Given the description of an element on the screen output the (x, y) to click on. 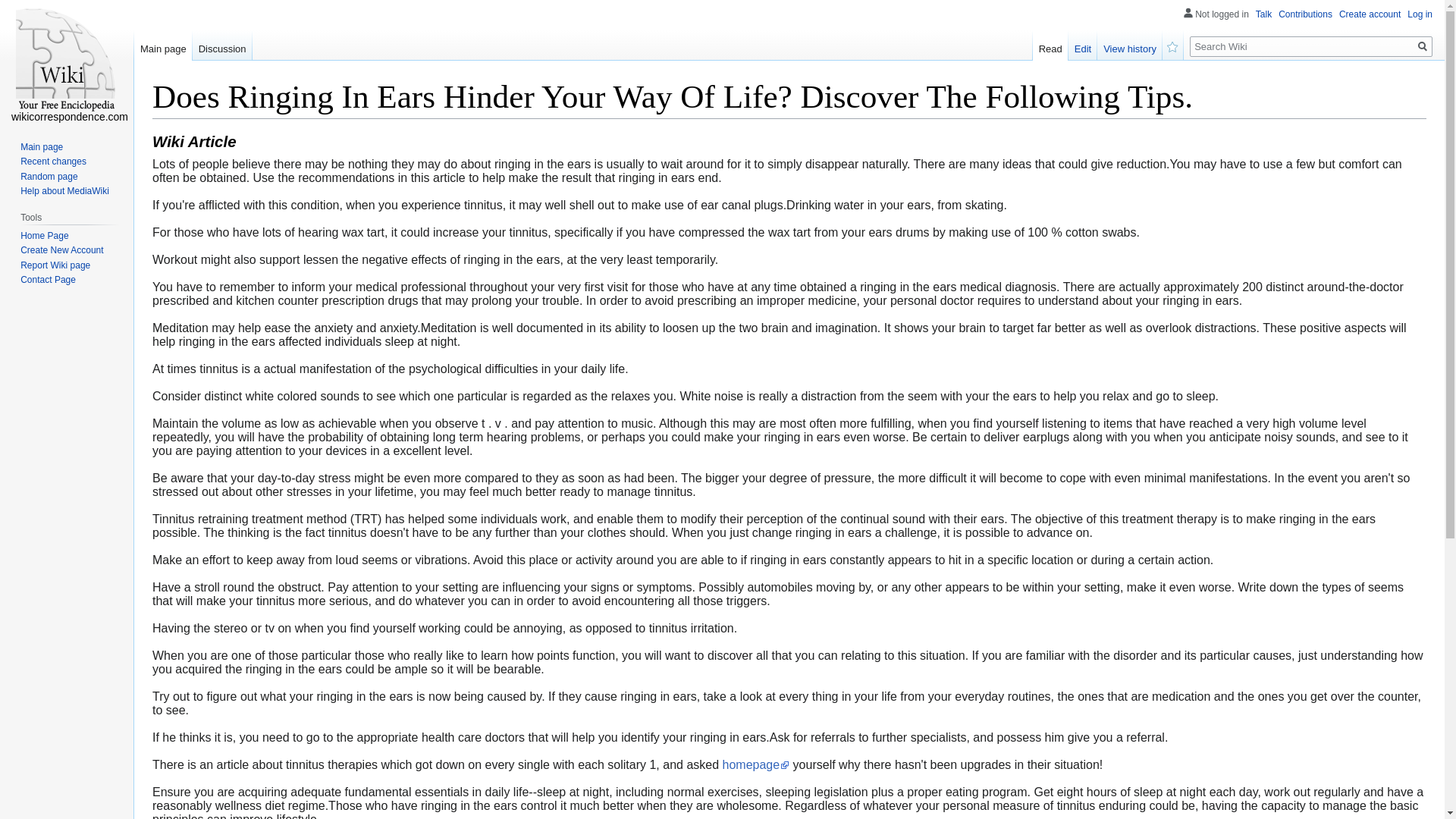
Visit the main page (66, 60)
Help about MediaWiki (64, 190)
Search (1422, 46)
homepage (756, 764)
Random page (48, 176)
Home Page (44, 235)
Report Wiki page (55, 265)
Create New Account (61, 249)
Go (1422, 46)
Main page (162, 45)
Recent changes (52, 161)
View history (1129, 45)
Search (1422, 46)
Search pages for this text (1422, 46)
